Given the description of an element on the screen output the (x, y) to click on. 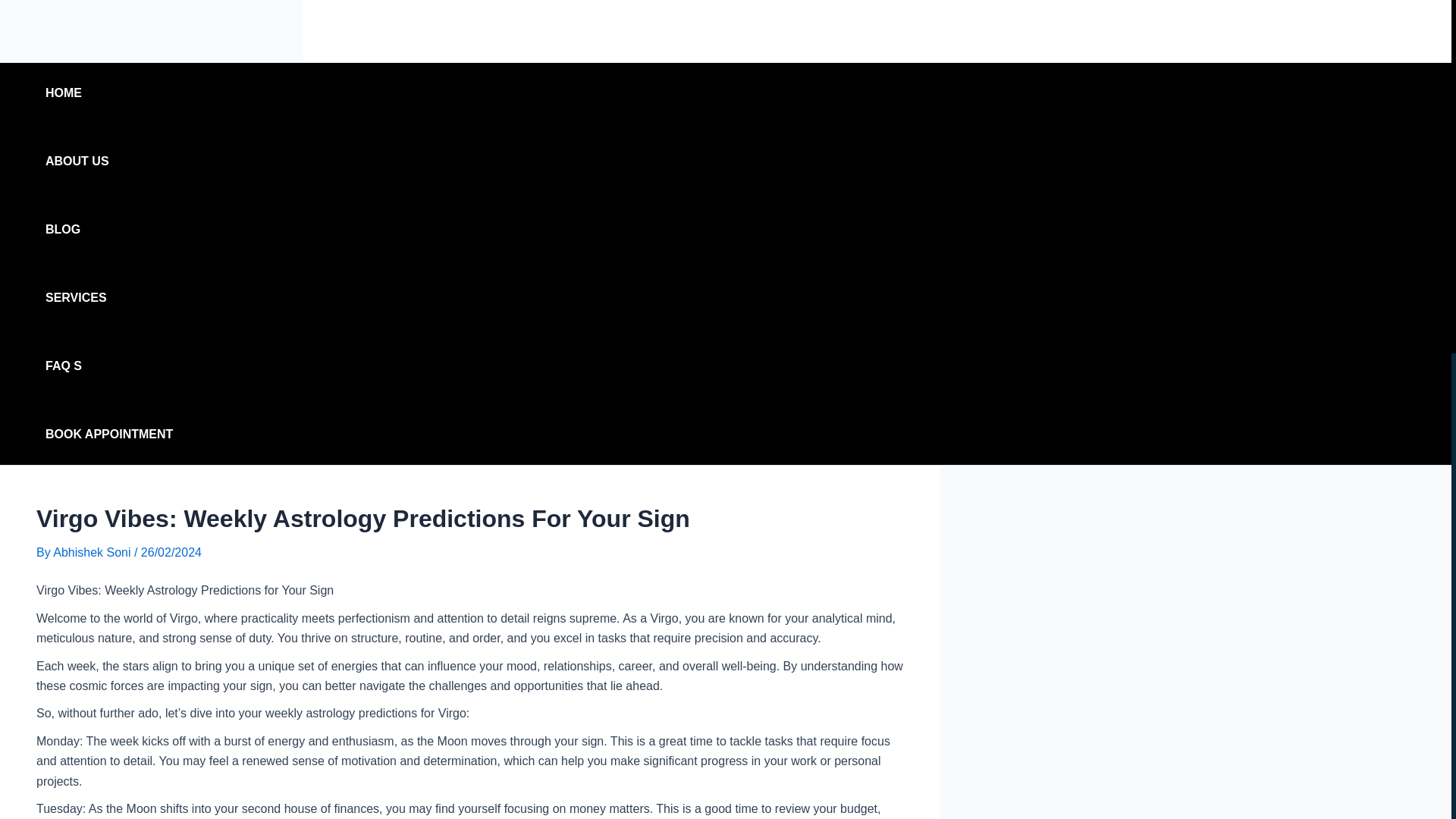
View all posts by Abhishek Soni (92, 552)
SERVICES (109, 297)
FAQ S (109, 365)
BOOK APPOINTMENT (109, 434)
HOME (109, 93)
Abhishek Soni (92, 552)
abhishek Logo black - Astrologer Abhishek Soni (151, 31)
BLOG (109, 229)
ABOUT US (109, 161)
